Given the description of an element on the screen output the (x, y) to click on. 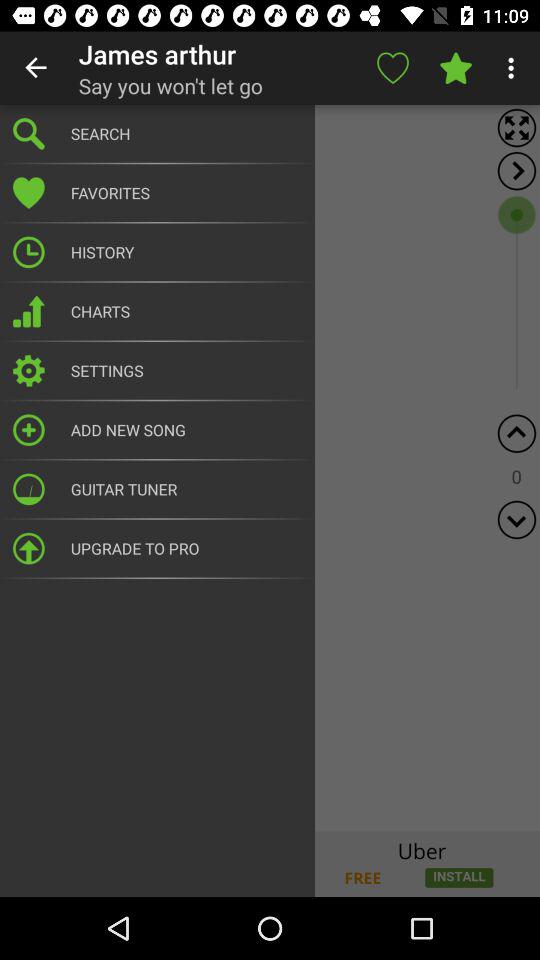
use the left menu to navigate the app (270, 468)
